Given the description of an element on the screen output the (x, y) to click on. 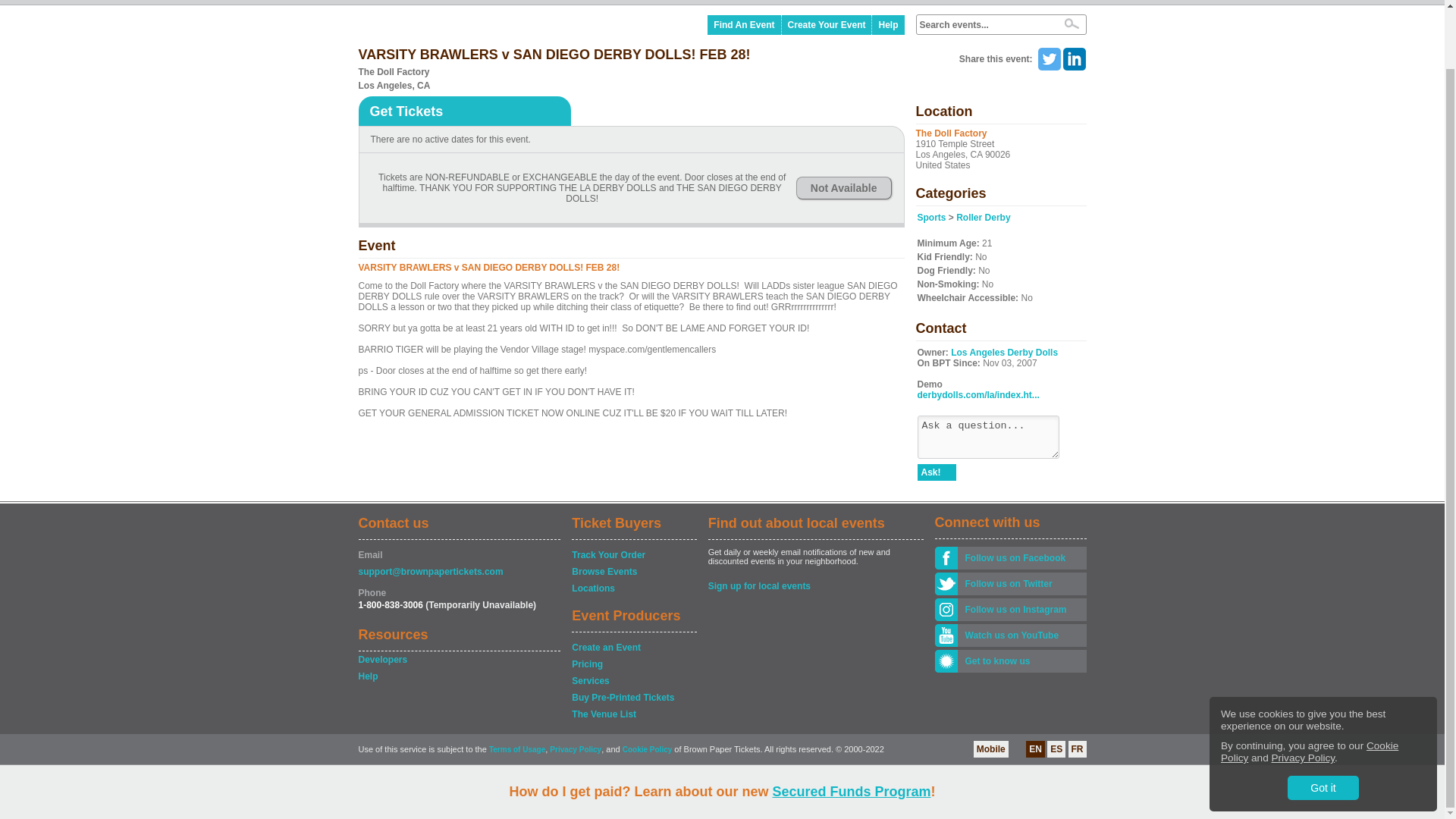
Submit to Twitter! (1048, 58)
Sports (931, 217)
Developers (458, 659)
Got it (1322, 723)
Help (458, 676)
Search Events (1070, 23)
Find An Event (743, 25)
Follow us on Facebook (1021, 558)
Locations (633, 588)
Browse Events (633, 571)
